Given the description of an element on the screen output the (x, y) to click on. 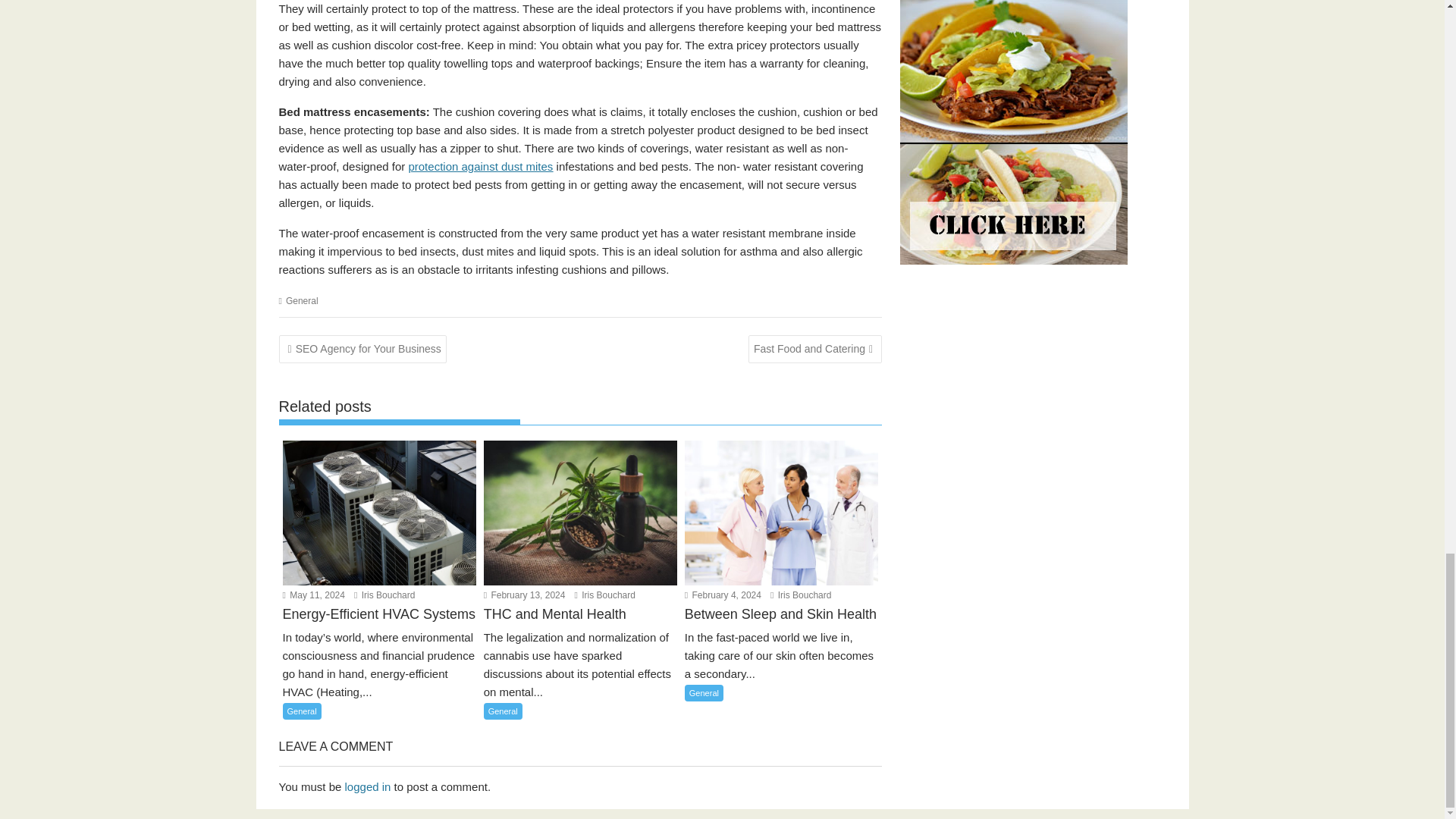
Iris Bouchard (383, 594)
Iris Bouchard (800, 594)
Iris Bouchard (604, 594)
